Given the description of an element on the screen output the (x, y) to click on. 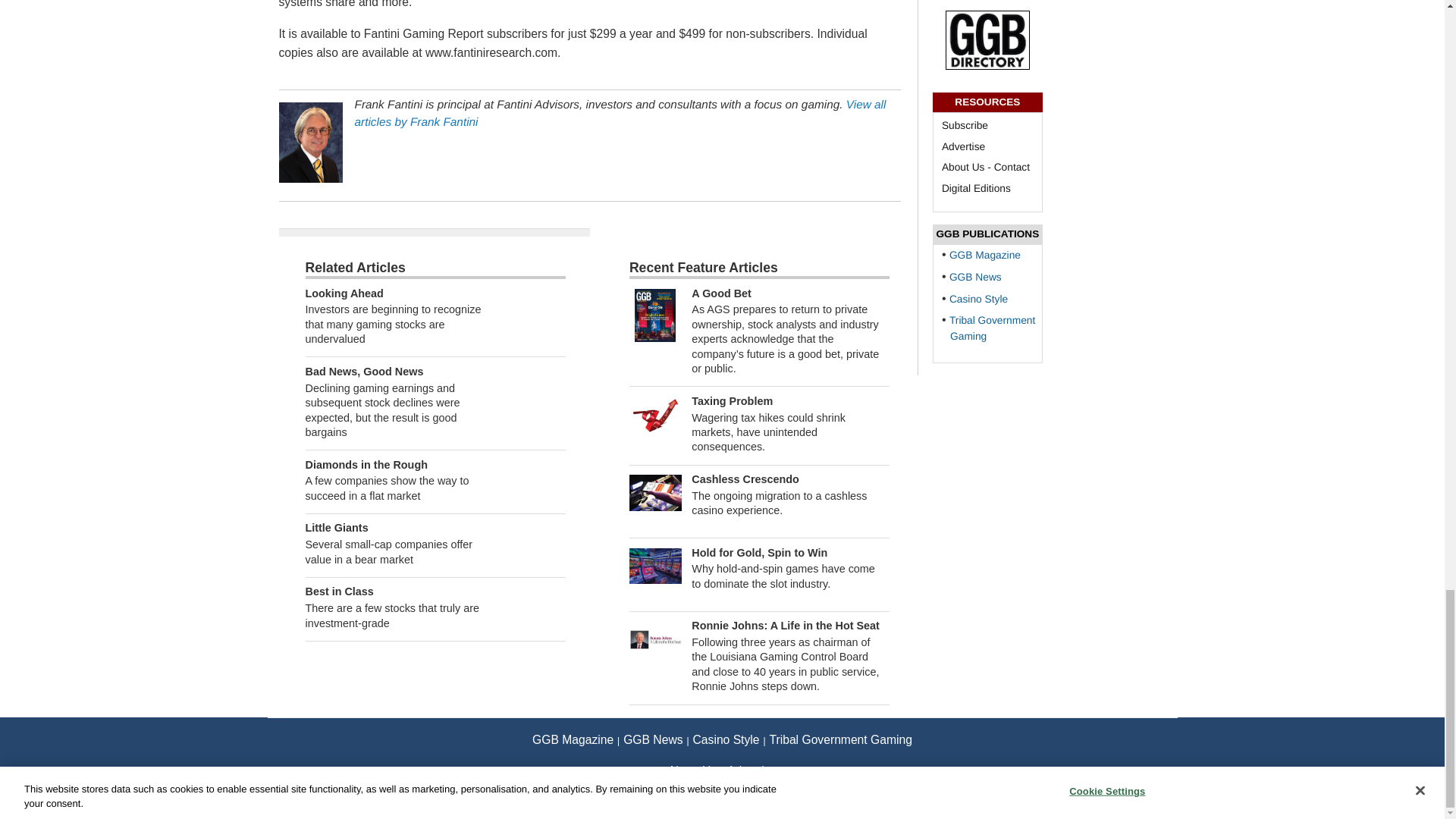
Bad News, Good News (363, 371)
Best in Class (338, 591)
Looking Ahead (343, 293)
Little Giants (336, 527)
Diamonds in the Rough (366, 464)
